Given the description of an element on the screen output the (x, y) to click on. 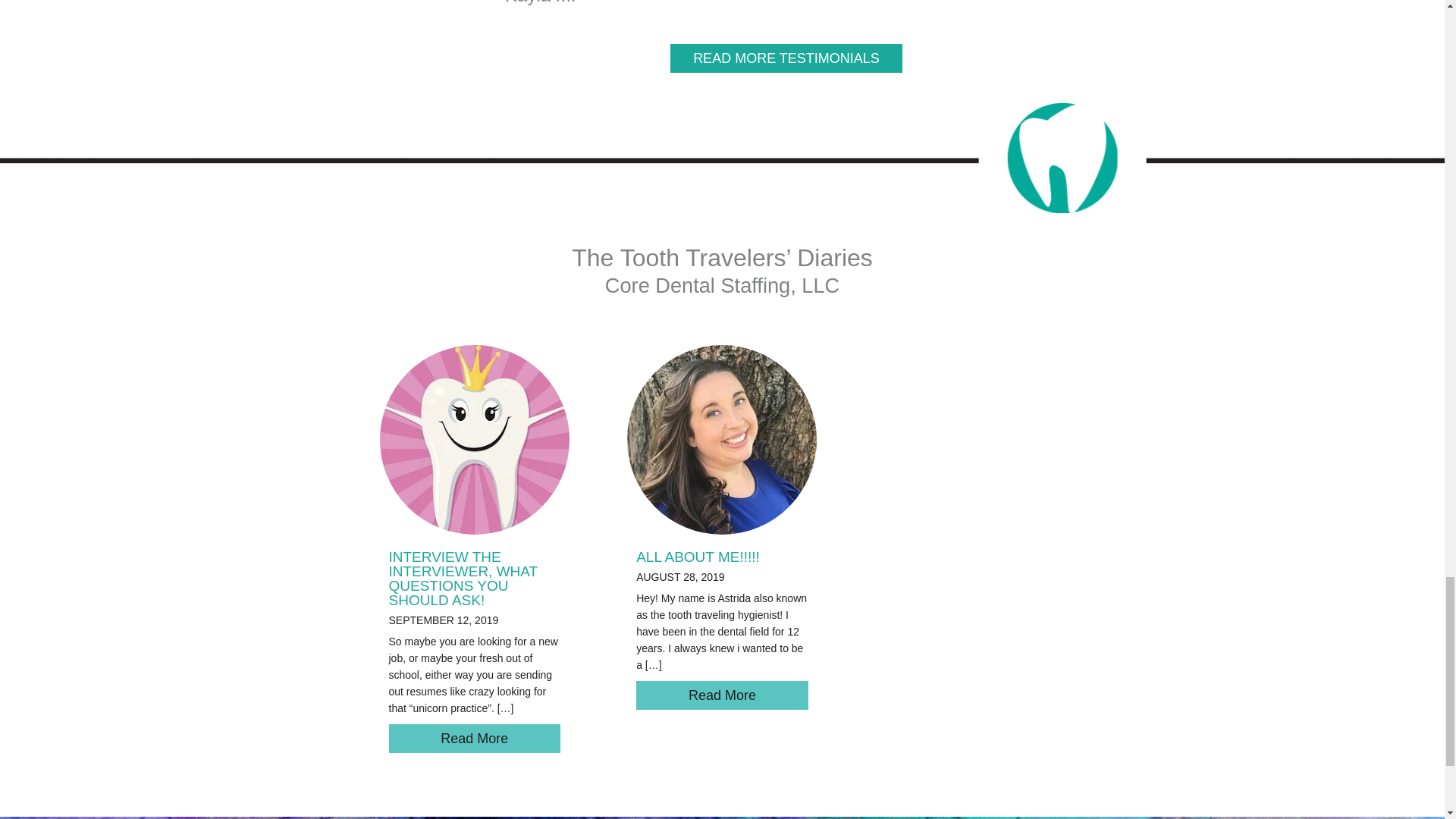
All about ME!!!!! (698, 556)
All about ME!!!!! (721, 438)
Interview the Interviewer, what questions you should ask! (474, 737)
Interview the Interviewer, what questions you should ask! (462, 578)
Interview the Interviewer, what questions you should ask! (474, 438)
INTERVIEW THE INTERVIEWER, WHAT QUESTIONS YOU SHOULD ASK! (462, 578)
READ MORE TESTIMONIALS (785, 58)
All about ME!!!!! (722, 695)
Read More (722, 695)
ALL ABOUT ME!!!!! (698, 556)
